Given the description of an element on the screen output the (x, y) to click on. 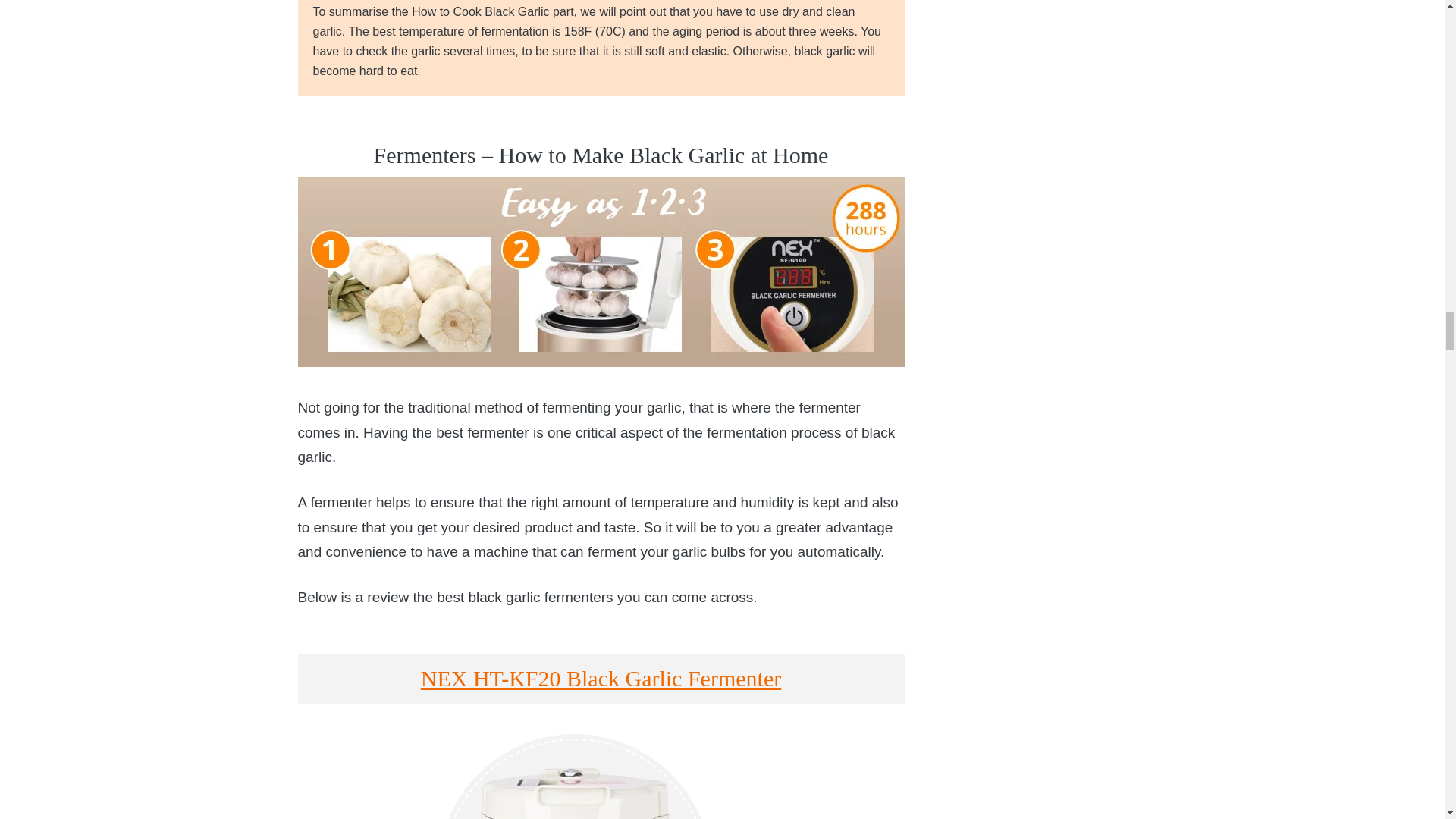
NEX HT-KF20 Black Garlic Fermenter Review (574, 778)
NEX Black Garlic Fermenter (600, 271)
NEX HT-KF20 Black Garlic Fermenter (600, 678)
READ REVIEWS (600, 776)
